Given the description of an element on the screen output the (x, y) to click on. 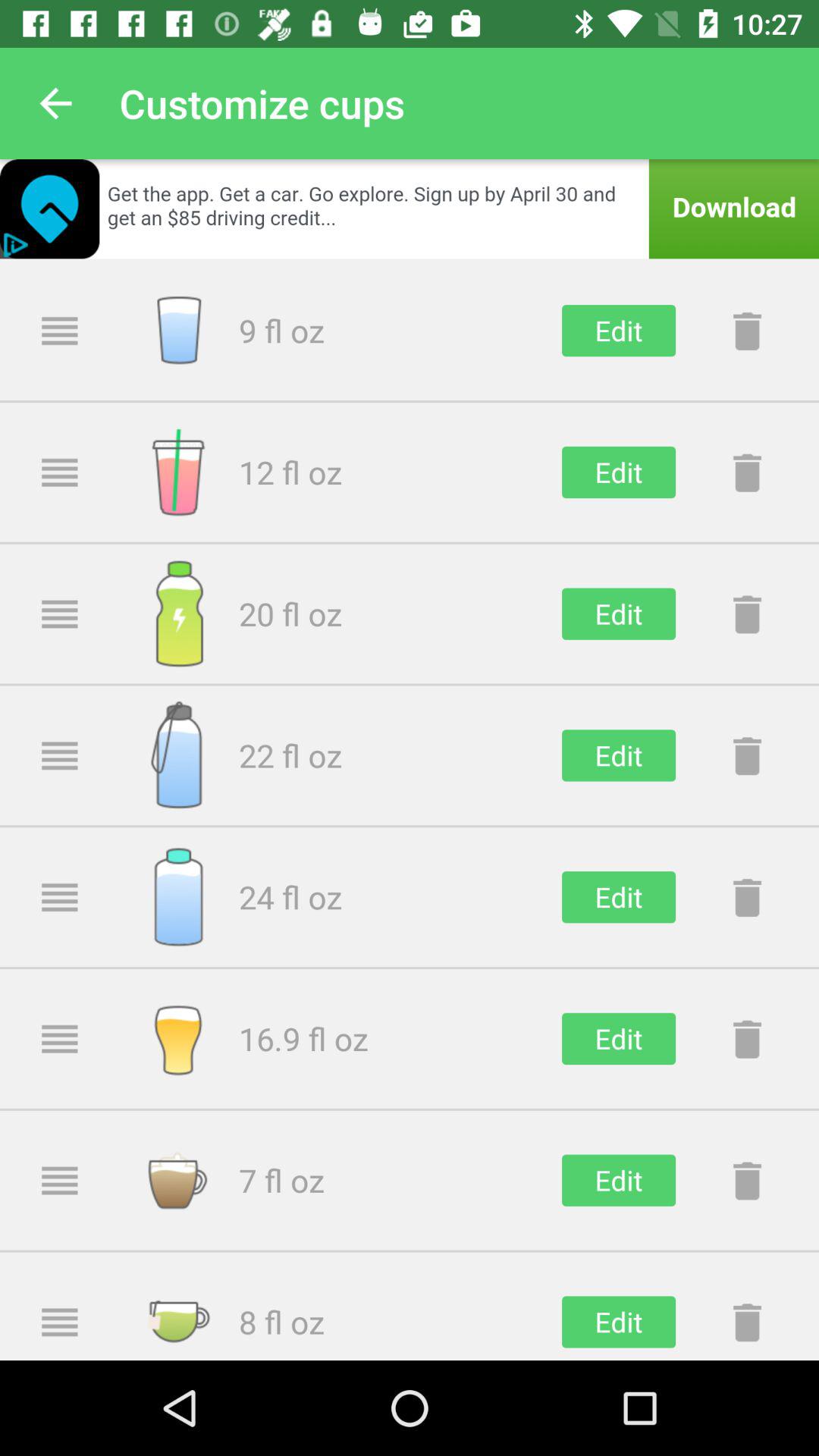
delect button (747, 330)
